Given the description of an element on the screen output the (x, y) to click on. 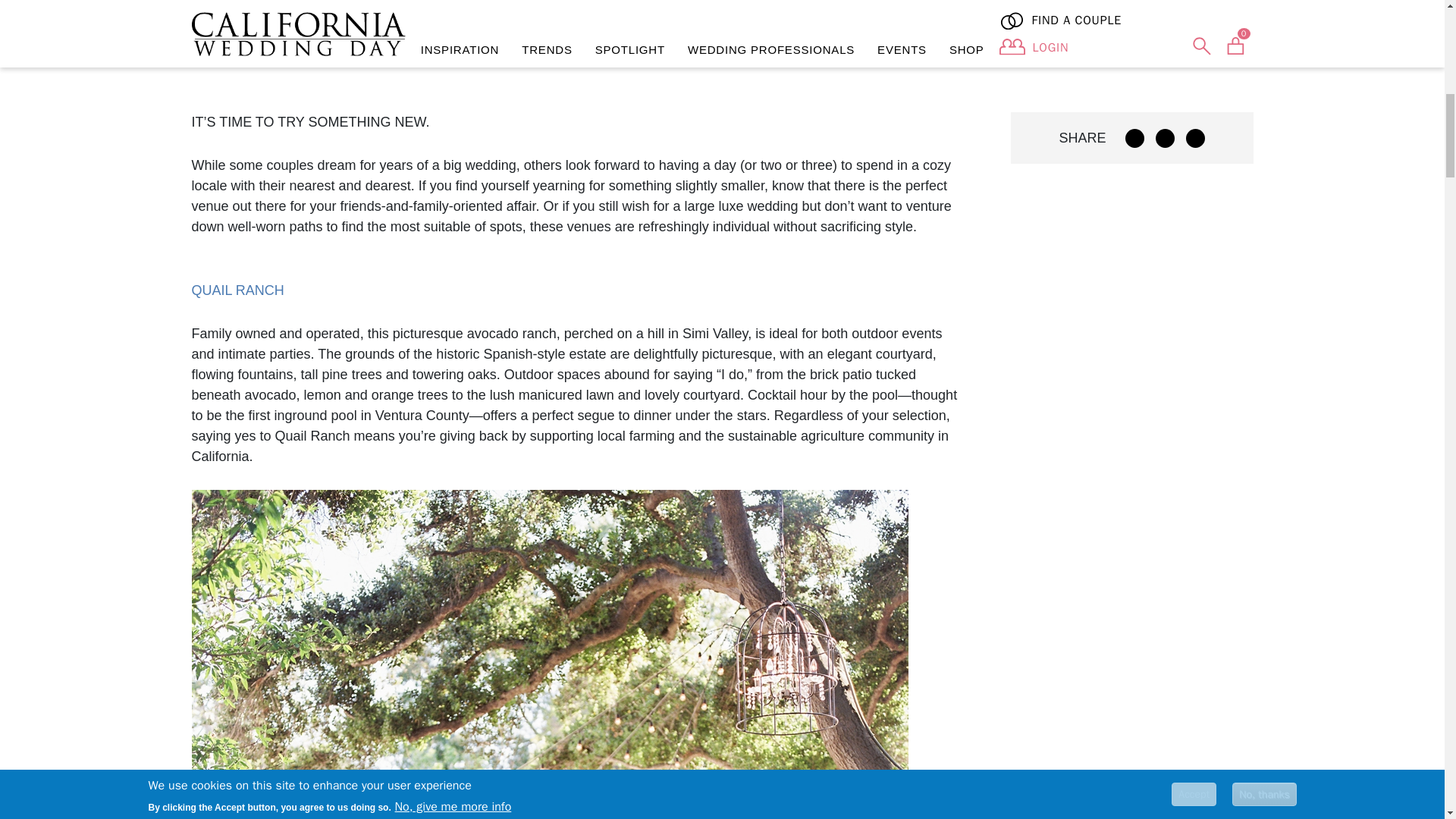
Share to Pinterest (1165, 138)
Share to Facebook (1134, 138)
QUAIL RANCH (236, 290)
Share to Email (1195, 138)
